Given the description of an element on the screen output the (x, y) to click on. 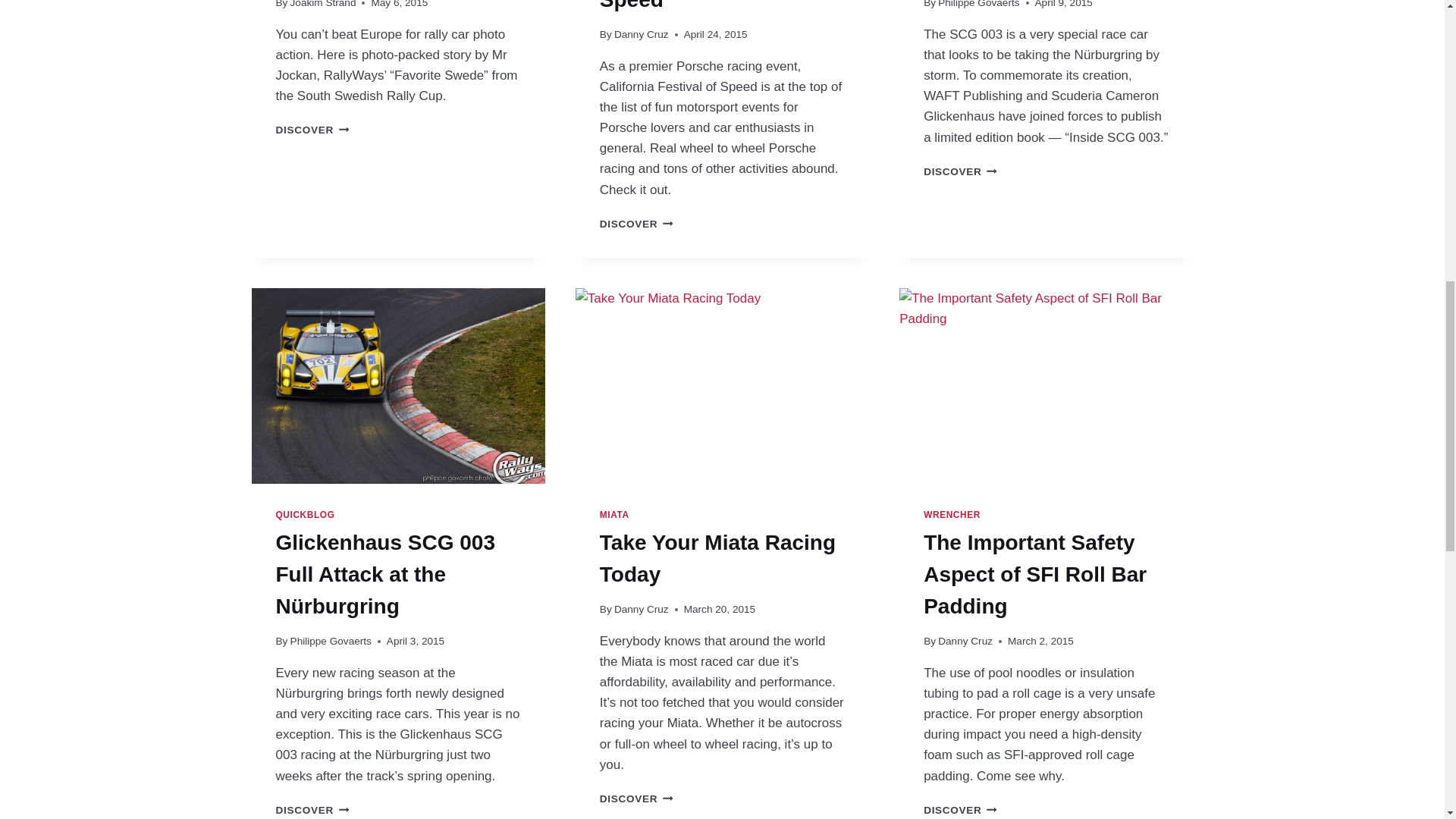
Danny Cruz (635, 224)
QUICKBLOG (641, 34)
Porsche Racing at California Festival of Speed (305, 514)
Joakim Strand (703, 5)
Philippe Govaerts (322, 4)
